Given the description of an element on the screen output the (x, y) to click on. 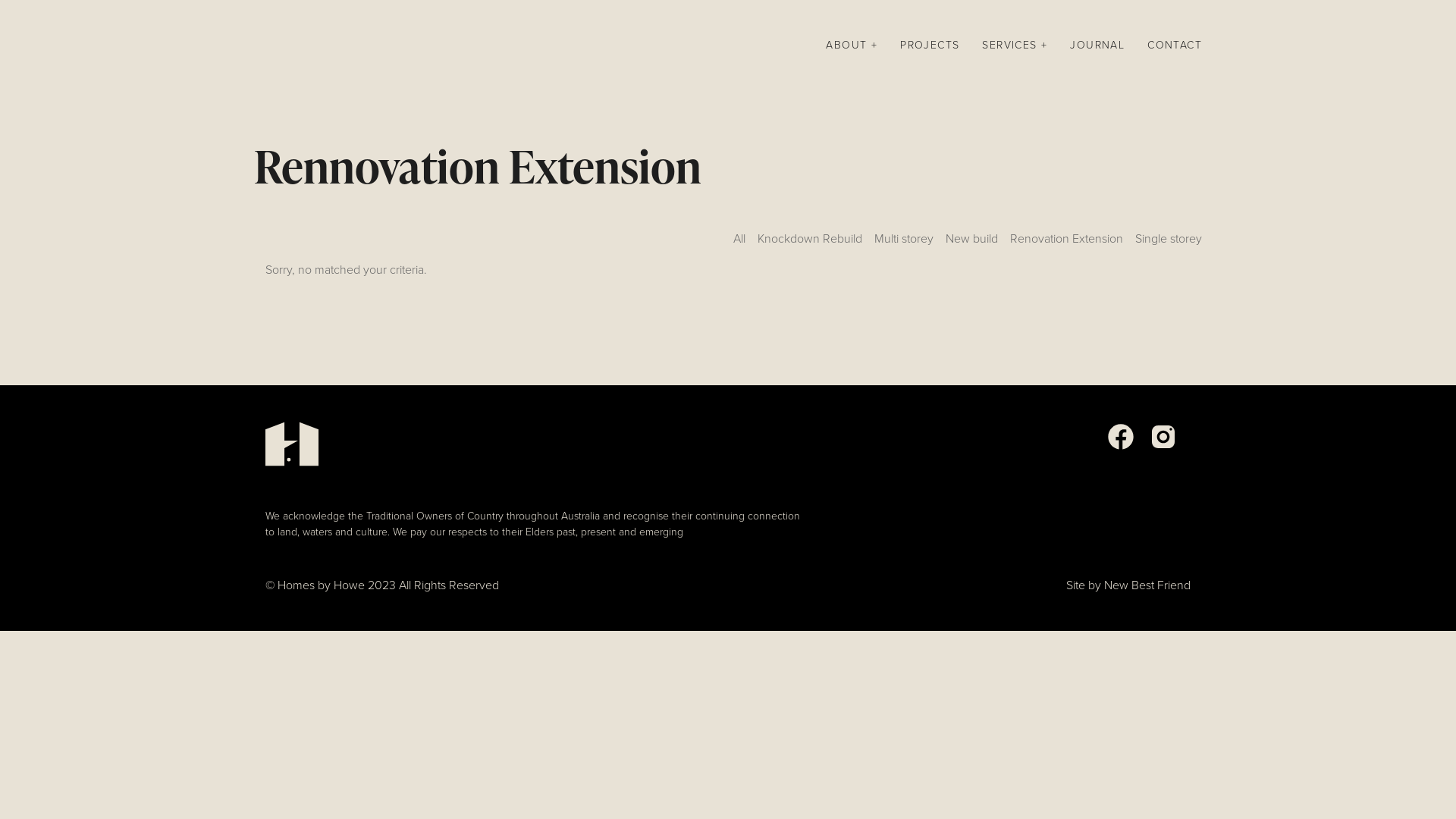
Single storey Element type: text (1168, 243)
Multi storey Element type: text (903, 243)
SERVICES Element type: text (1014, 45)
Homes by Howe on Instagram Element type: text (1163, 446)
All Element type: text (739, 243)
PROJECTS Element type: text (929, 45)
ABOUT Element type: text (851, 45)
Renovation Extension Element type: text (1066, 243)
Home Element type: hover (254, 45)
JOURNAL Element type: text (1097, 45)
Knockdown Rebuild Element type: text (809, 243)
CONTACT Element type: text (1174, 45)
New Best Friend Element type: text (1147, 585)
New build Element type: text (971, 243)
Homes by Howe on Facebook Element type: text (1120, 446)
